Given the description of an element on the screen output the (x, y) to click on. 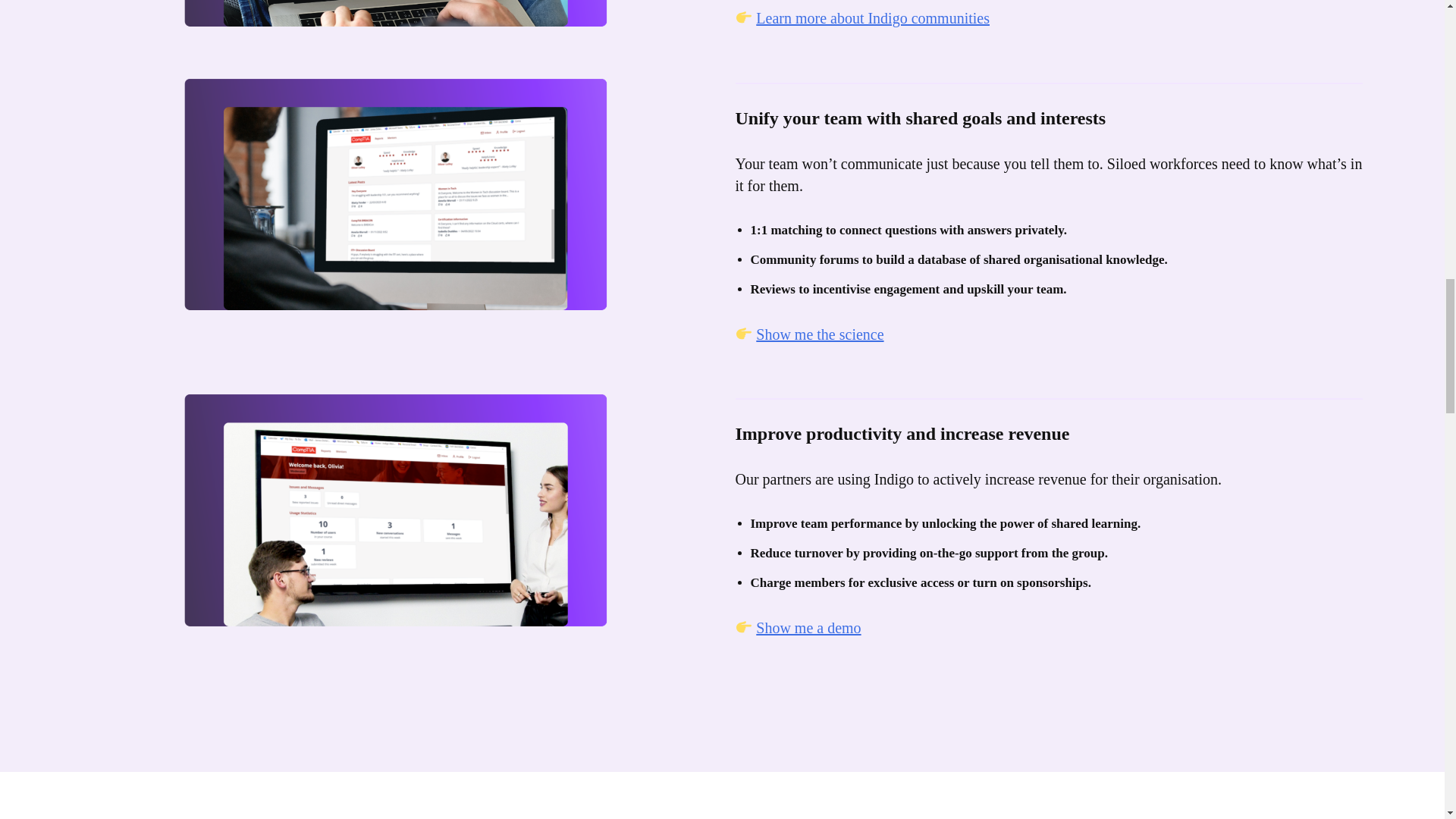
Show me the science (819, 334)
The unknown Indigo of infinite possibility (928, 811)
Show me a demo (807, 627)
Learn more about Indigo communities (872, 17)
